Given the description of an element on the screen output the (x, y) to click on. 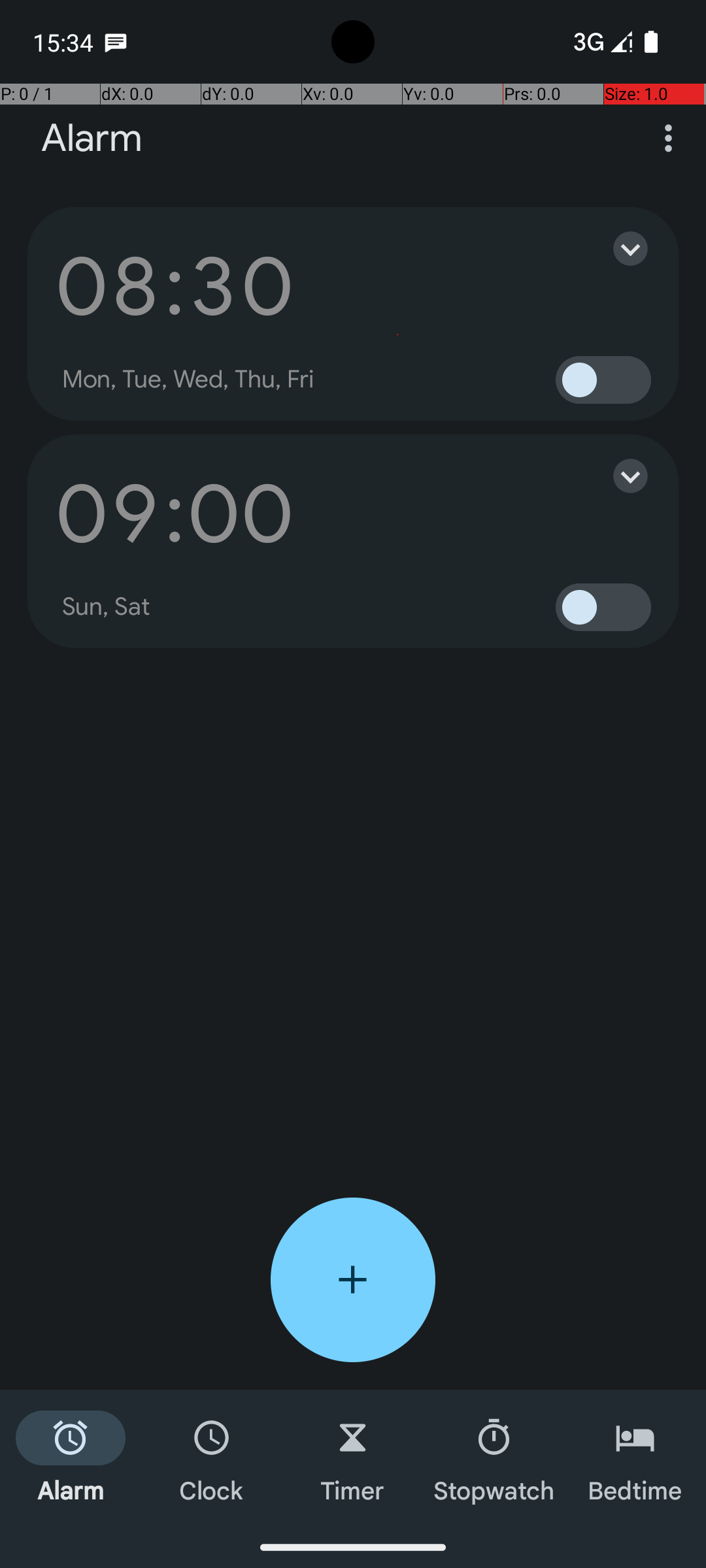
Alarm Element type: android.widget.TextView (91, 138)
Add alarm Element type: android.widget.Button (352, 1279)
08:30 Element type: android.widget.TextView (174, 286)
Expand alarm Element type: android.widget.ImageButton (616, 248)
Mon, Tue, Wed, Thu, Fri Element type: android.widget.TextView (187, 379)
09:00 Element type: android.widget.TextView (174, 513)
Sun, Sat Element type: android.widget.TextView (106, 606)
Clock Element type: android.widget.FrameLayout (211, 1457)
Timer Element type: android.widget.FrameLayout (352, 1457)
Stopwatch Element type: android.widget.FrameLayout (493, 1457)
Bedtime Element type: android.widget.FrameLayout (635, 1457)
